Given the description of an element on the screen output the (x, y) to click on. 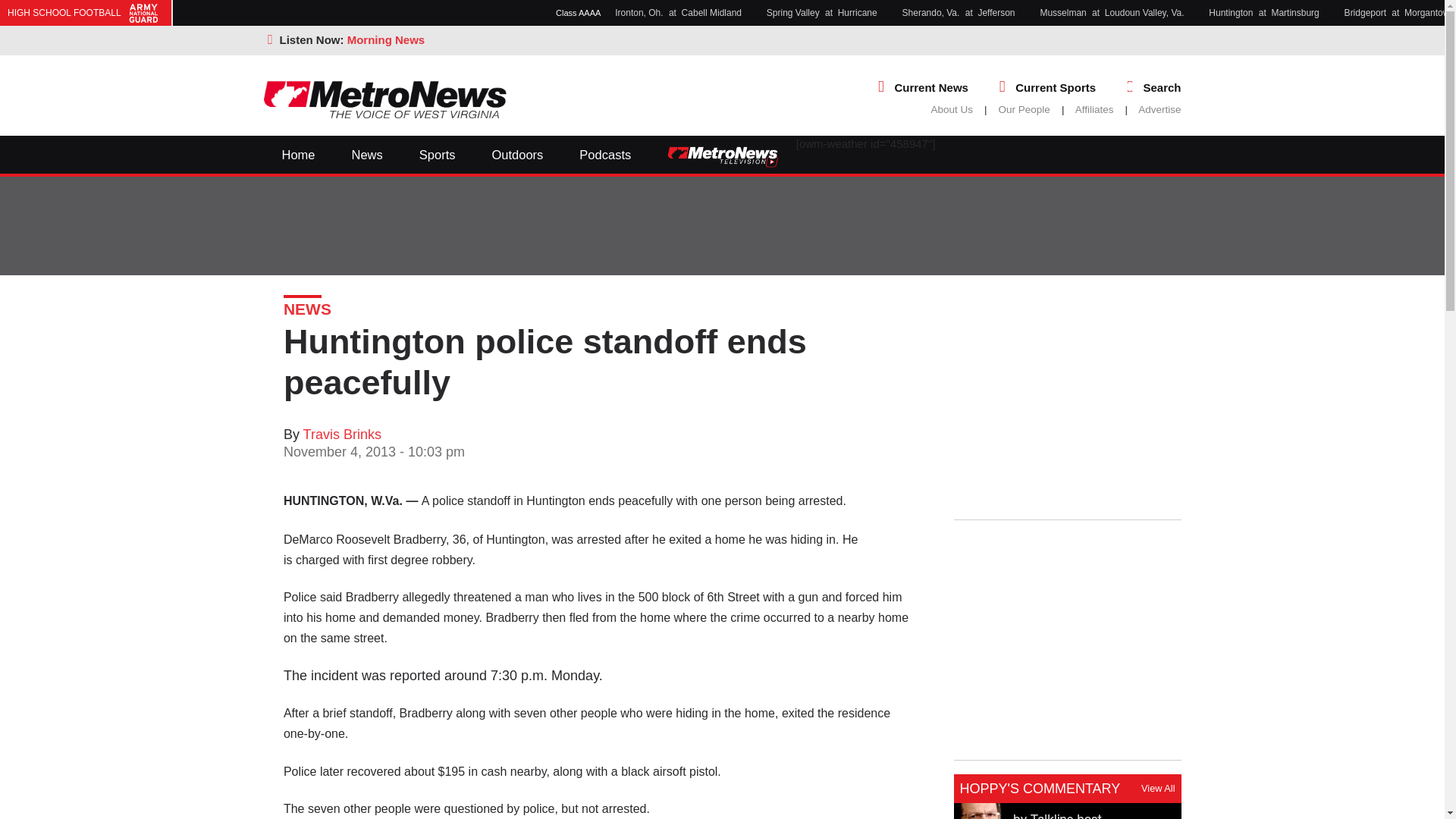
  Huntington at  Martinsburg    (1267, 12)
  Spring Valley at  Hurricane    (824, 12)
HIGH SCHOOL FOOTBALL (85, 12)
  Musselman at  Loudoun Valley, Va.    (1115, 12)
  Sherando, Va. at  Jefferson    (961, 12)
  Ironton, Oh. at  Cabell Midland    (681, 12)
